Given the description of an element on the screen output the (x, y) to click on. 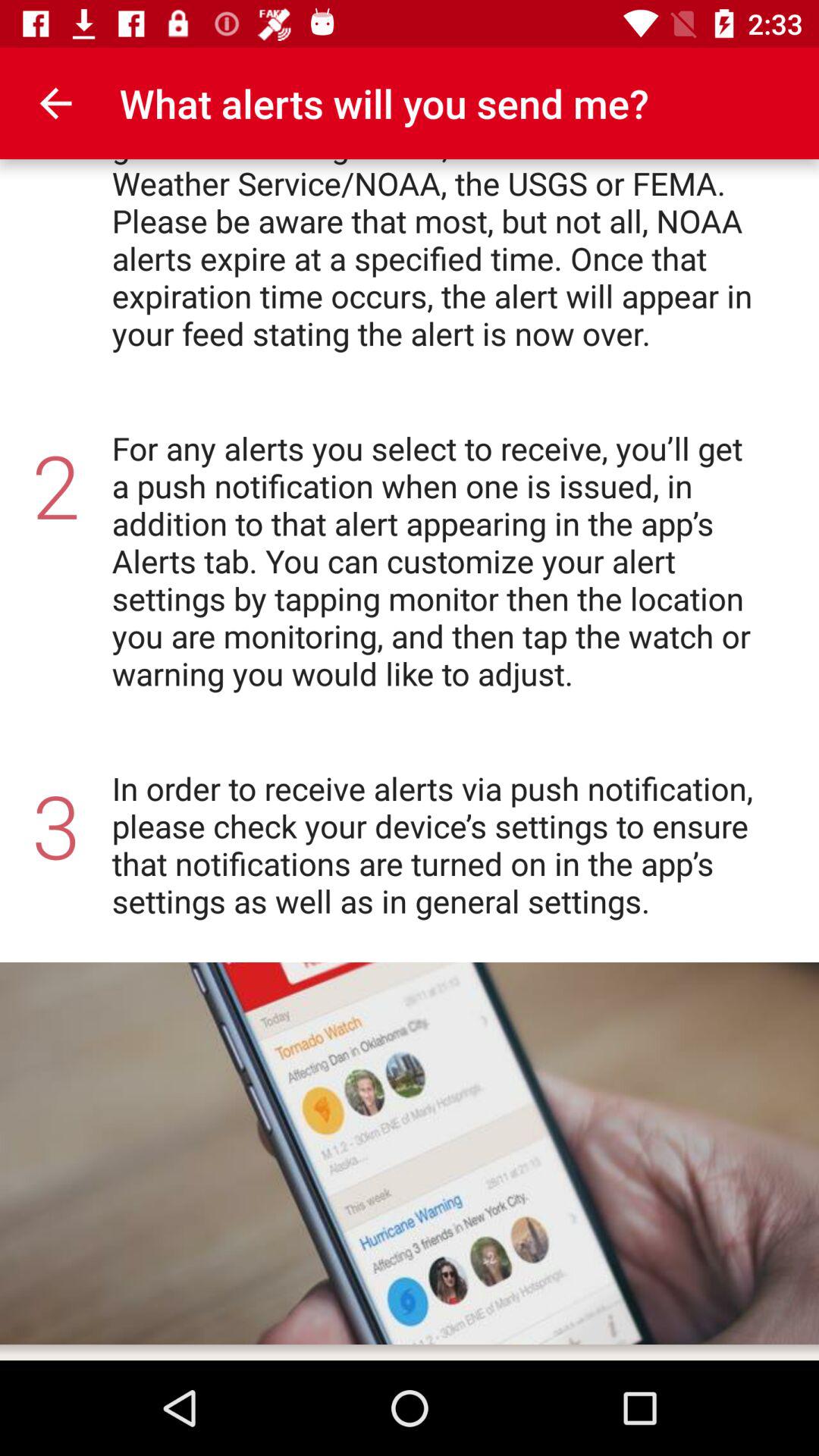
tap the icon above for each location item (55, 103)
